Given the description of an element on the screen output the (x, y) to click on. 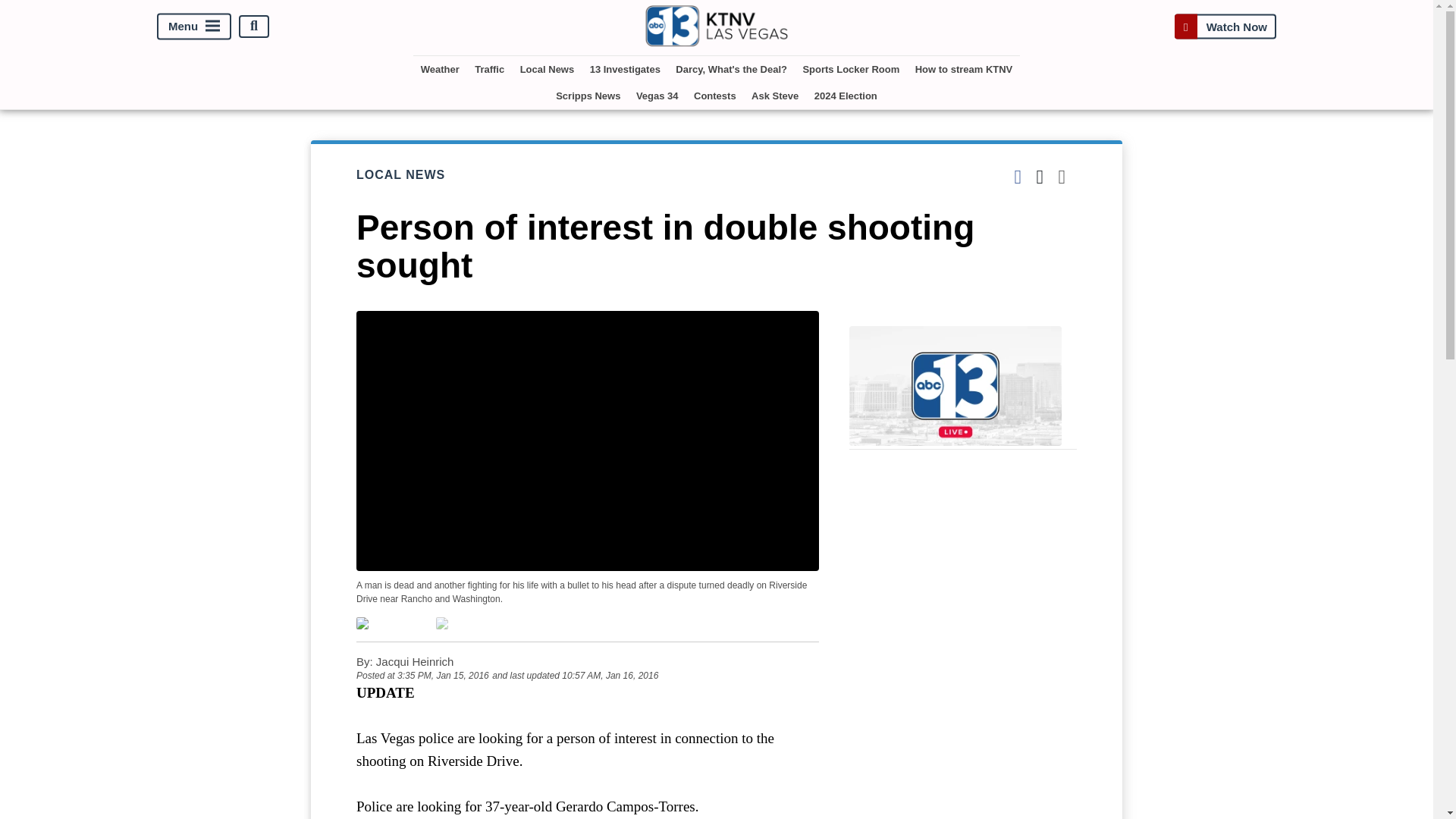
Watch Now (1224, 25)
Menu (194, 26)
